Given the description of an element on the screen output the (x, y) to click on. 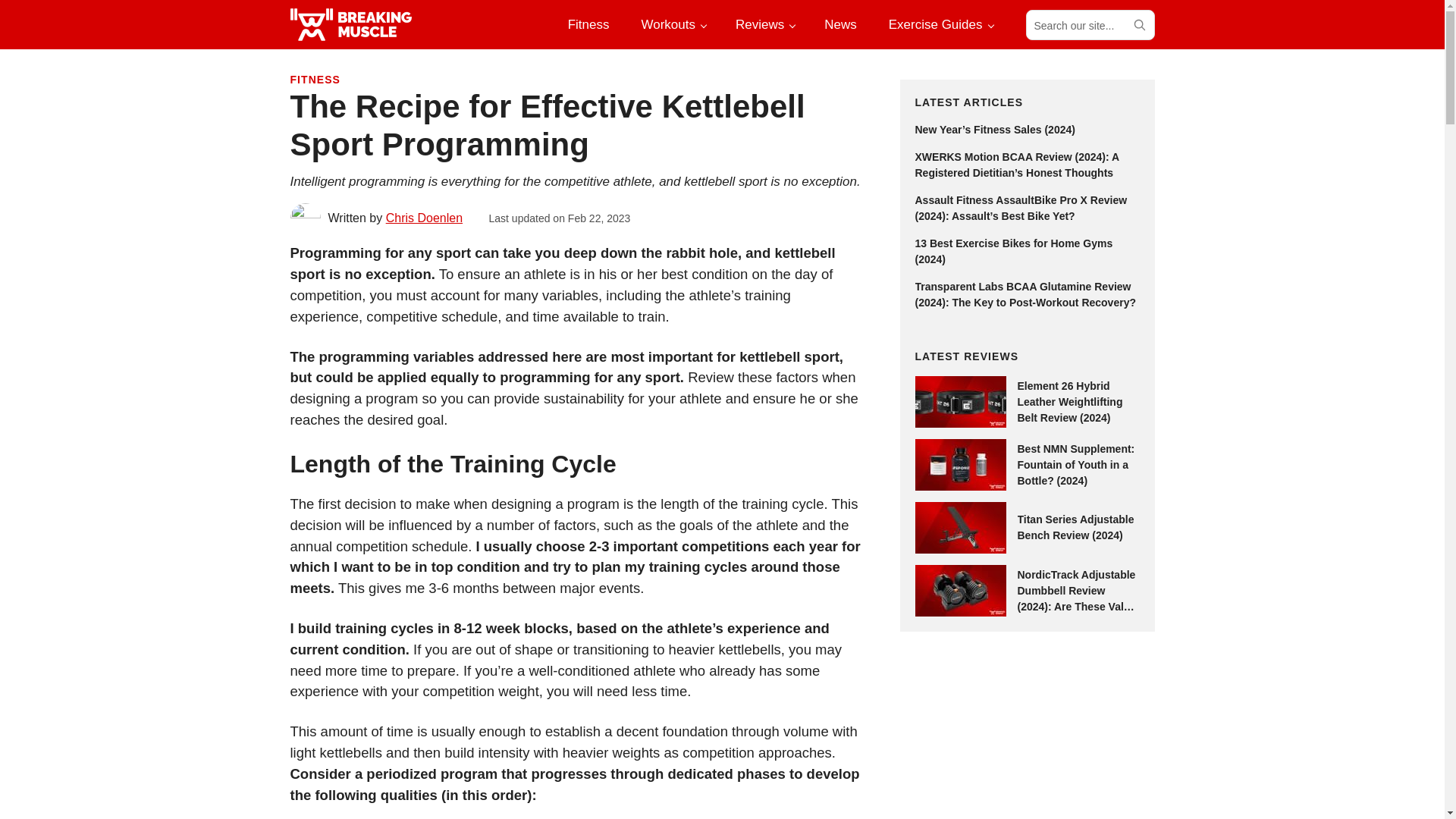
Reviews (764, 24)
Submit search (1138, 24)
Submit search (1138, 24)
Workouts (672, 24)
Fitness (588, 24)
